Given the description of an element on the screen output the (x, y) to click on. 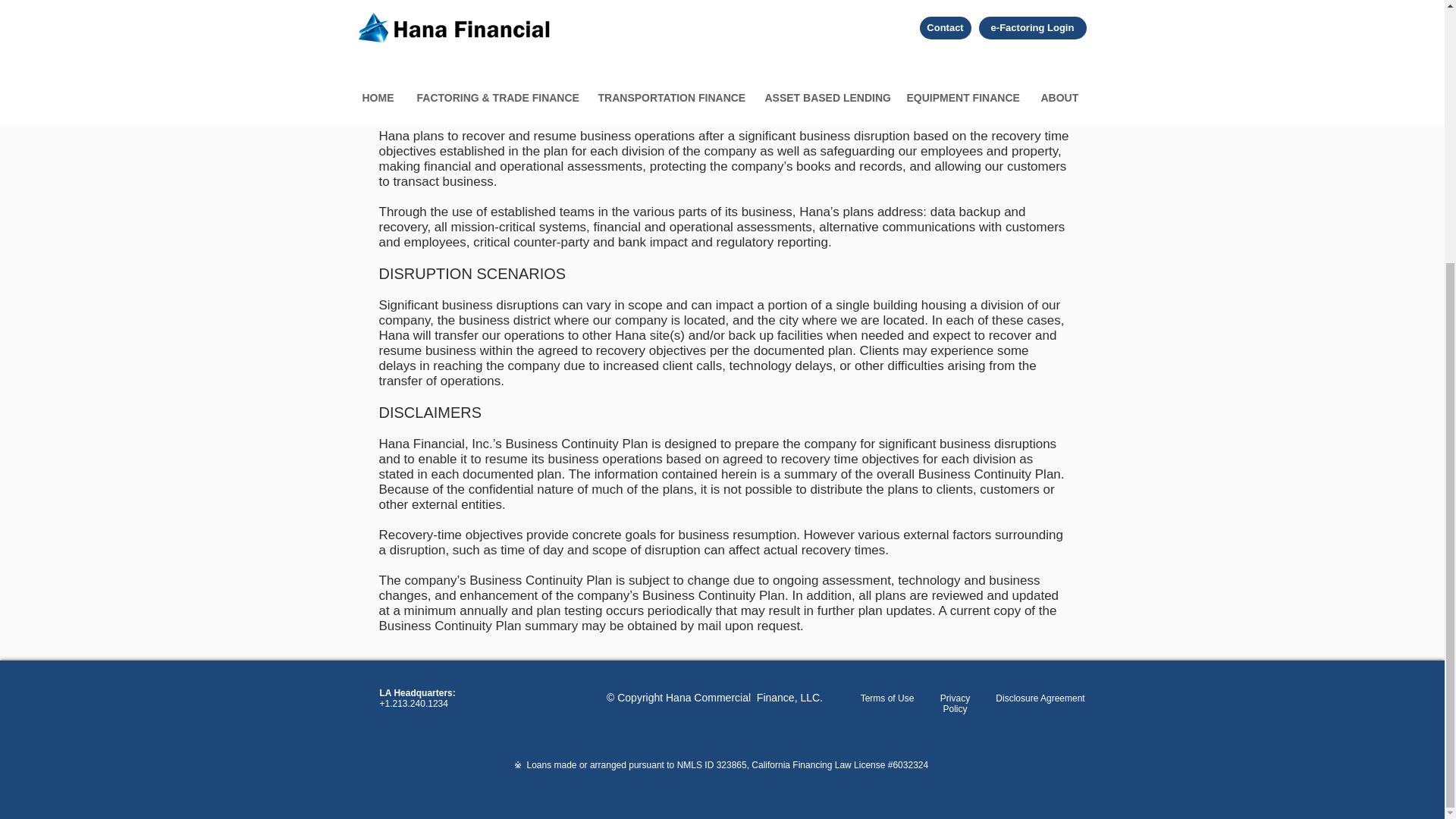
Terms of Use (887, 697)
Disclosure Agreement (1039, 697)
Privacy Policy (954, 703)
